Given the description of an element on the screen output the (x, y) to click on. 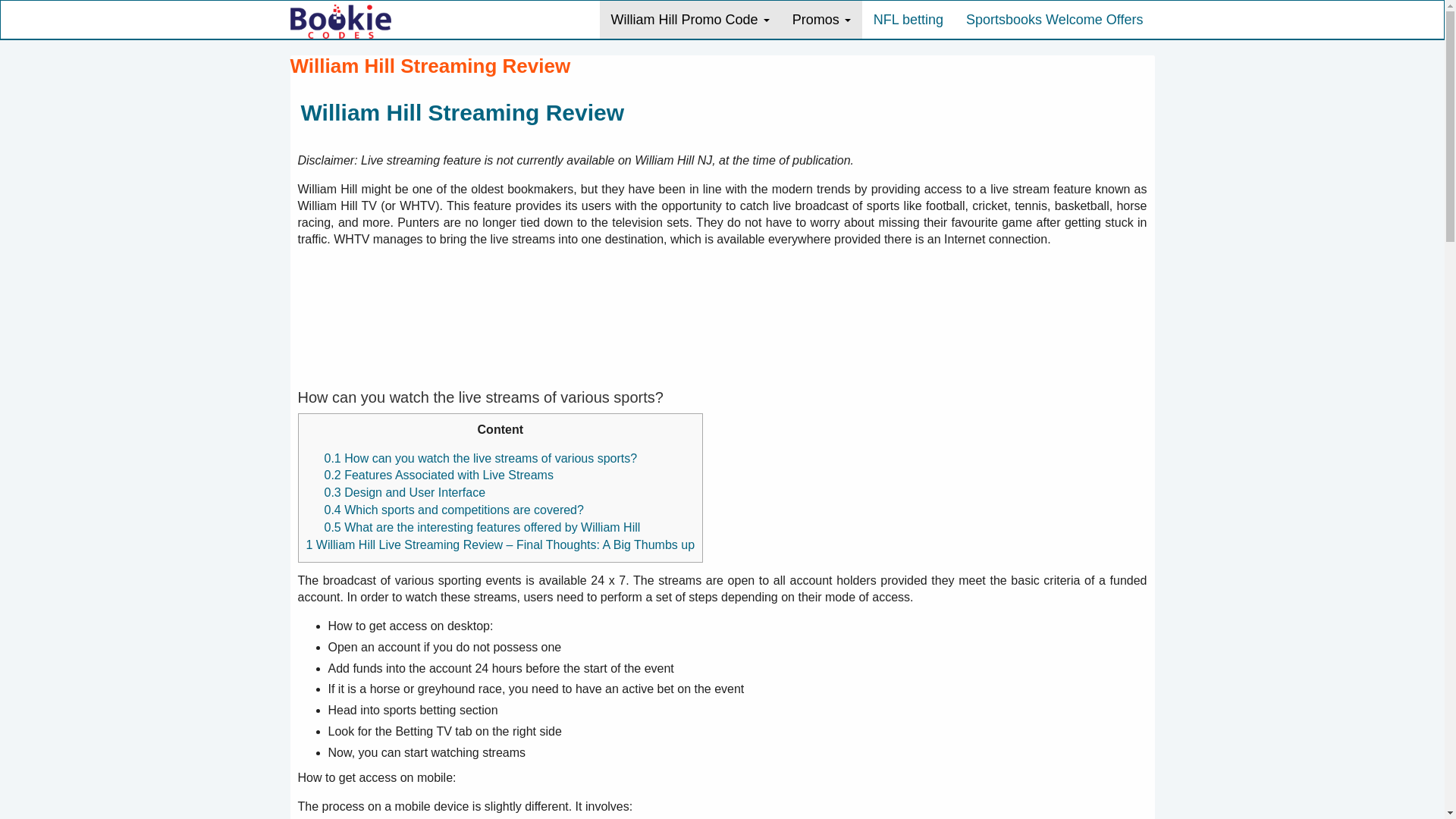
NFL betting (908, 19)
0.3 Design and User Interface (405, 492)
Sportsbooks Welcome Offers (1054, 19)
Promos (820, 19)
William Hill Promo Code (689, 19)
NFL betting (908, 19)
0.4 Which sports and competitions are covered? (453, 509)
0.1 How can you watch the live streams of various sports? (480, 458)
William Hill Promo Code (689, 19)
